Given the description of an element on the screen output the (x, y) to click on. 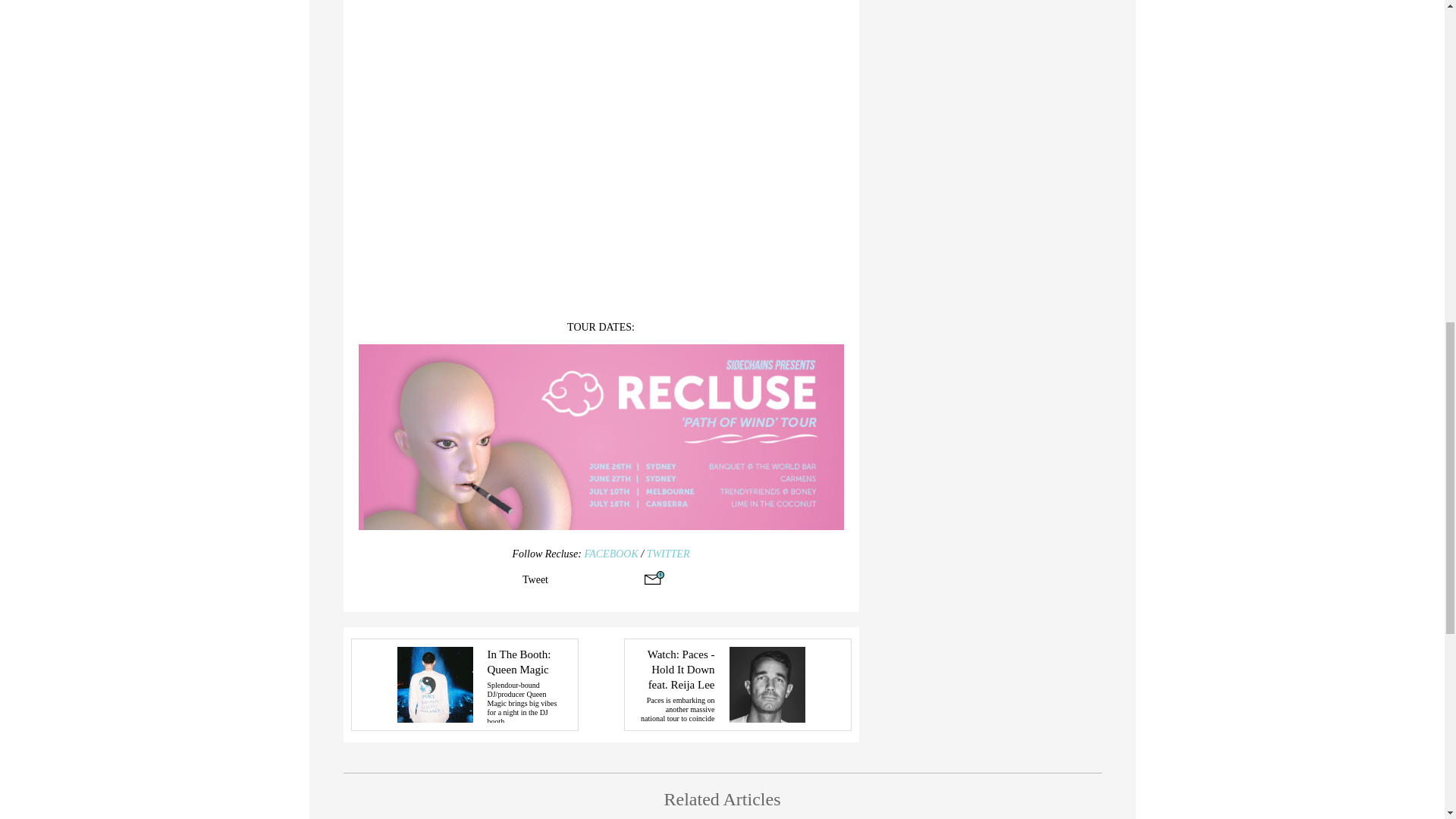
Share via email (654, 577)
Previous article: In The Booth: Queen Magic (464, 684)
Next article: Watch: Paces - Hold It Down feat. Reija Lee (736, 684)
